Given the description of an element on the screen output the (x, y) to click on. 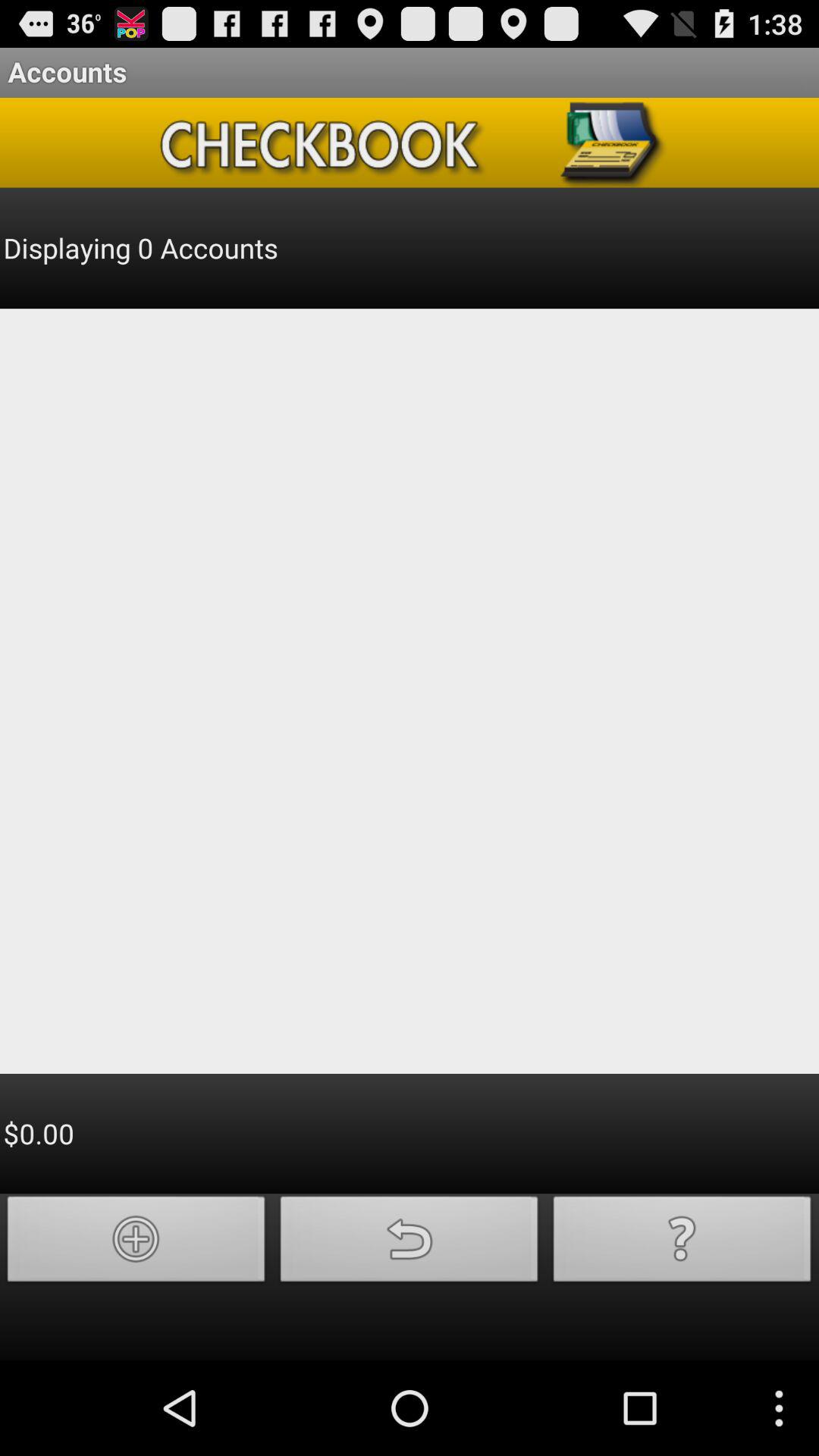
ask a question (682, 1243)
